Given the description of an element on the screen output the (x, y) to click on. 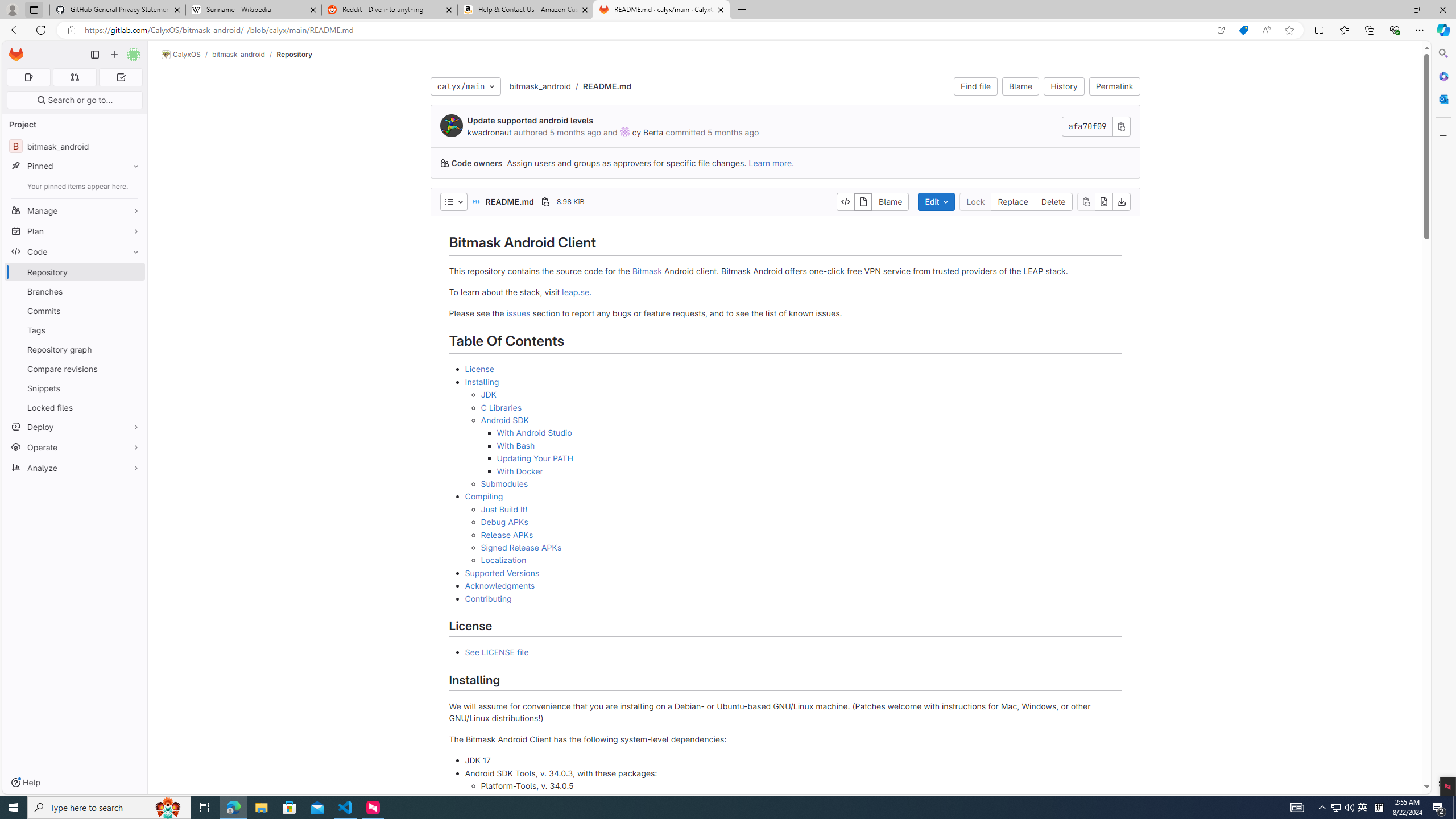
With Bash (515, 445)
CalyxOS (180, 54)
Assigned issues 0 (28, 76)
Updating Your PATH (534, 457)
History (1063, 85)
Locked files (74, 407)
Supported Versions (502, 572)
Repository (294, 53)
Code (74, 251)
With Bash (808, 445)
